Given the description of an element on the screen output the (x, y) to click on. 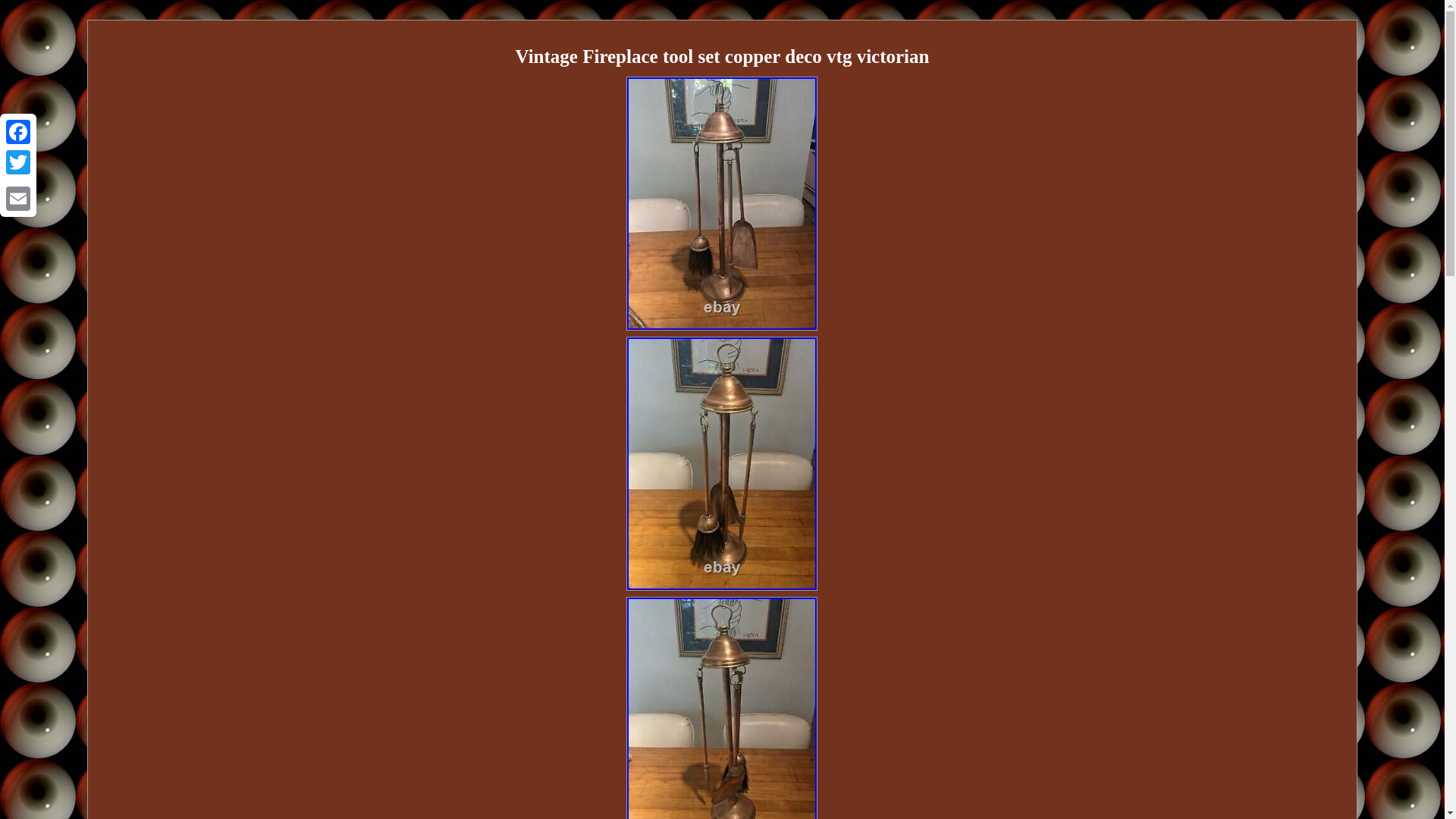
Facebook (17, 132)
Email (17, 198)
Twitter (17, 162)
